Given the description of an element on the screen output the (x, y) to click on. 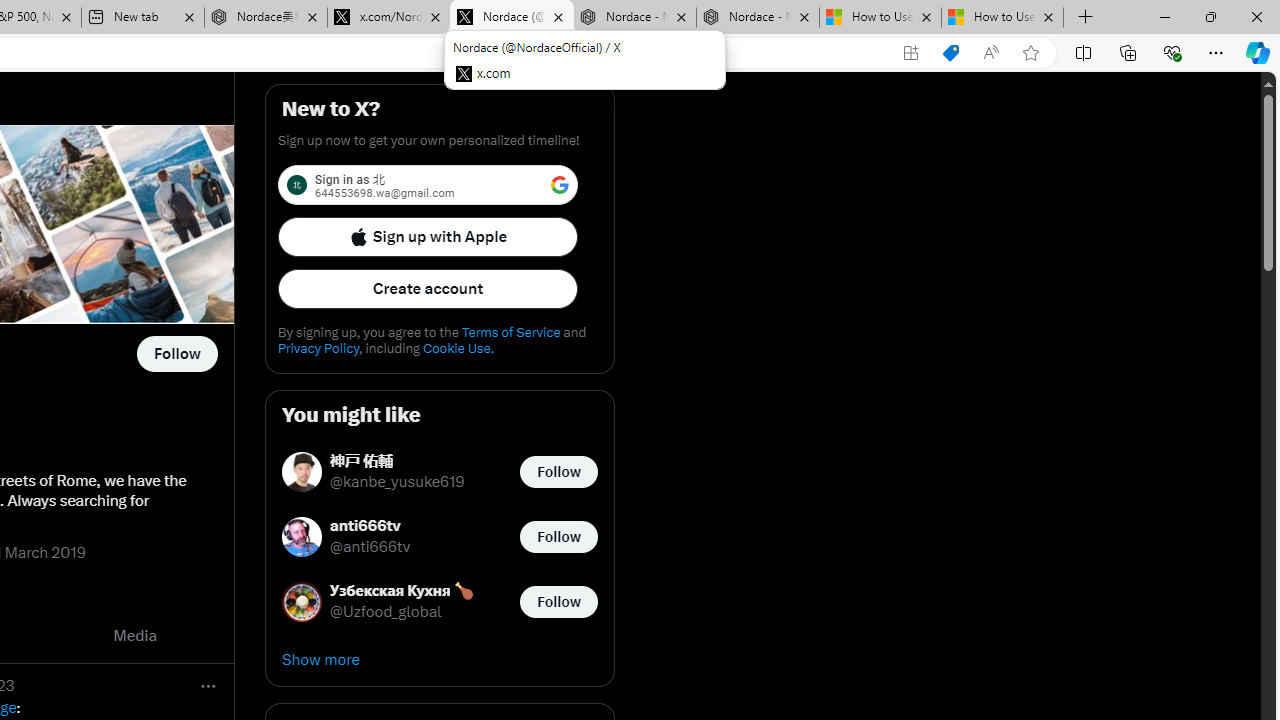
Cookie Use. (458, 348)
Shopping in Microsoft Edge (950, 53)
anti666tv (370, 526)
Create account (427, 288)
x.com/NordaceOfficial (388, 17)
Media (135, 636)
@Uzfood_global (386, 611)
Follow @kanbe_yusuke619 (558, 471)
